Given the description of an element on the screen output the (x, y) to click on. 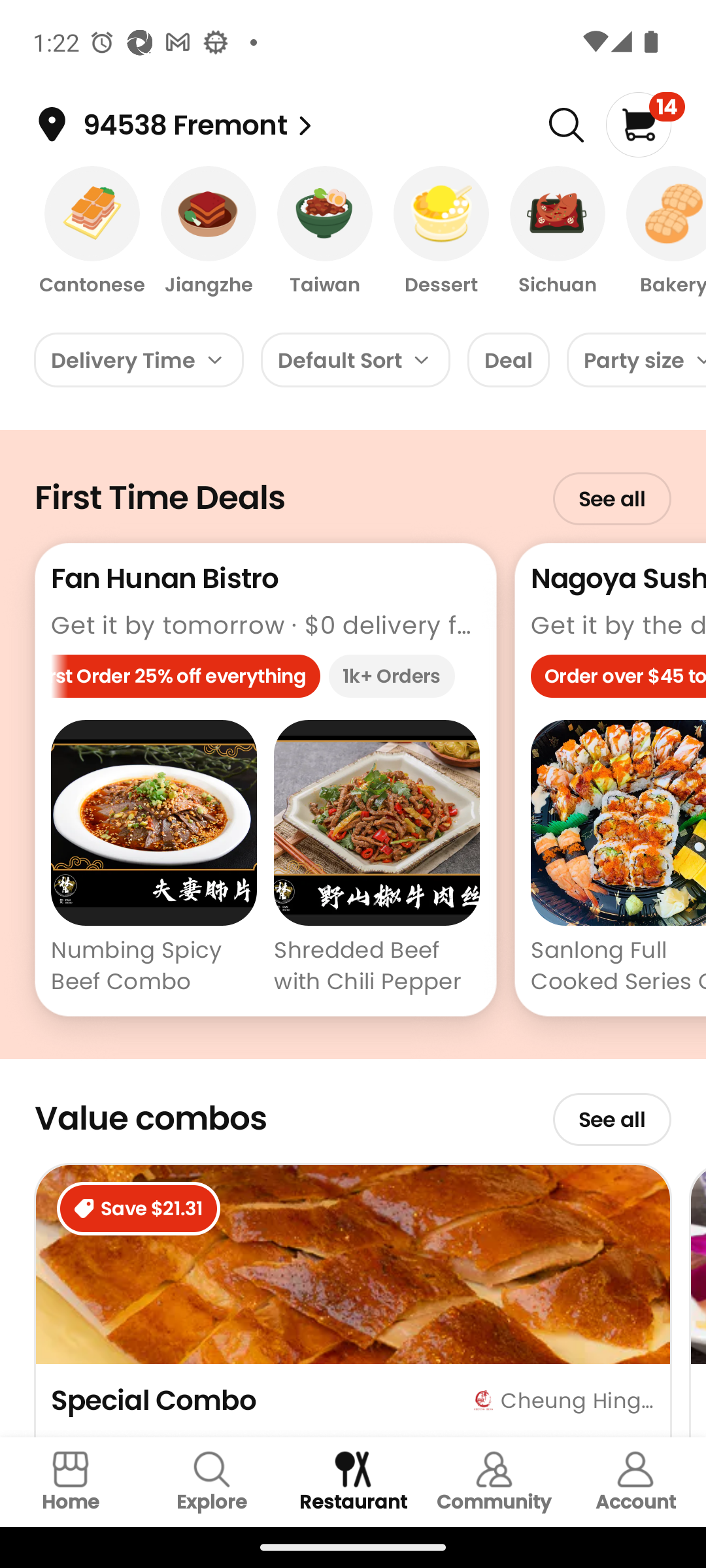
Image (565, 125)
94538 Fremont Image (304, 124)
14 (644, 124)
Image Cantonese (91, 231)
Image Jiangzhe (208, 231)
Image Taiwan (324, 231)
Image Dessert (441, 231)
Image Sichuan (557, 231)
Image Bakery (660, 231)
Delivery Time Image (138, 359)
Default Sort Image (355, 359)
Deal (508, 359)
Party size Image (636, 359)
First Time Deals See all (353, 485)
Order over $45 to get $6 off (618, 680)
Numbing Spicy Beef Combo (153, 859)
Shredded Beef with Chili Pepper (376, 859)
Sanlong Full Cooked Series Combo (618, 859)
Value combos See all (353, 1110)
Home (70, 1482)
Explore (211, 1482)
Restaurant (352, 1482)
Community (493, 1482)
Account (635, 1482)
